Given the description of an element on the screen output the (x, y) to click on. 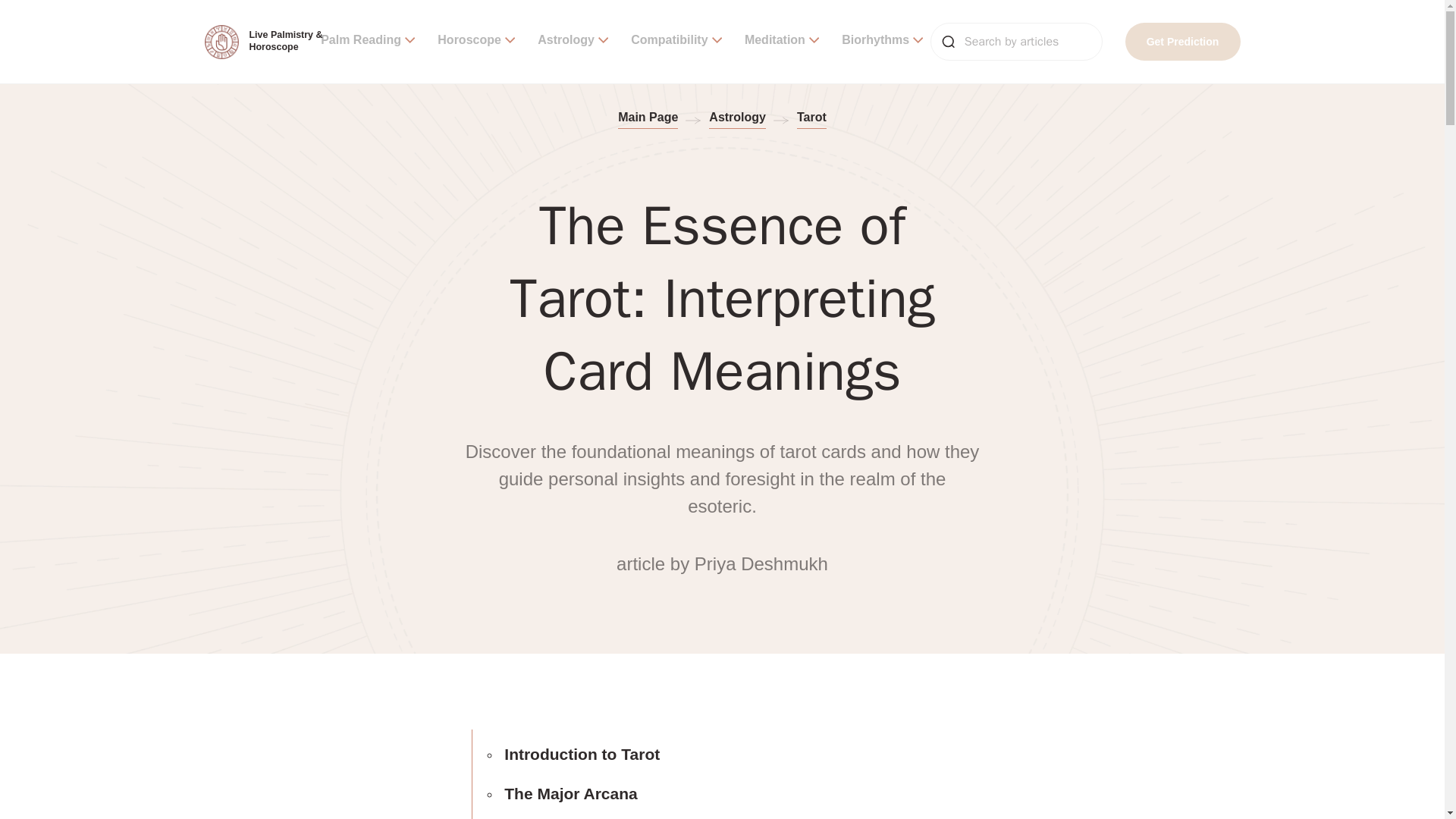
Biorhythms (882, 41)
Meditation (781, 41)
Astrology (572, 41)
Horoscope (476, 41)
Compatibility (676, 41)
Palm Reading (367, 41)
